Given the description of an element on the screen output the (x, y) to click on. 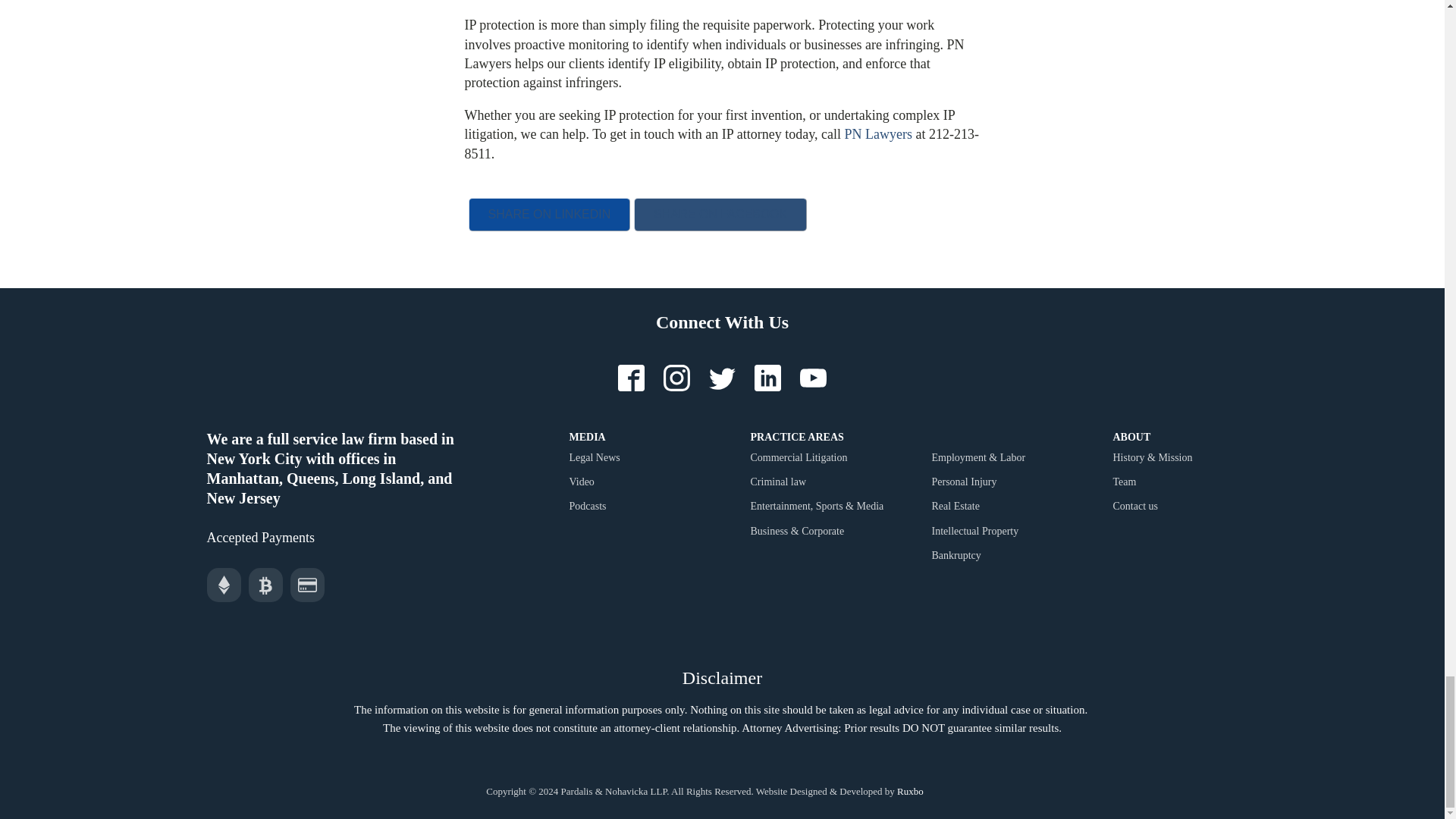
Share on Facebook (720, 214)
Share on LinkedIn (549, 214)
PN Lawyers (877, 133)
